Given the description of an element on the screen output the (x, y) to click on. 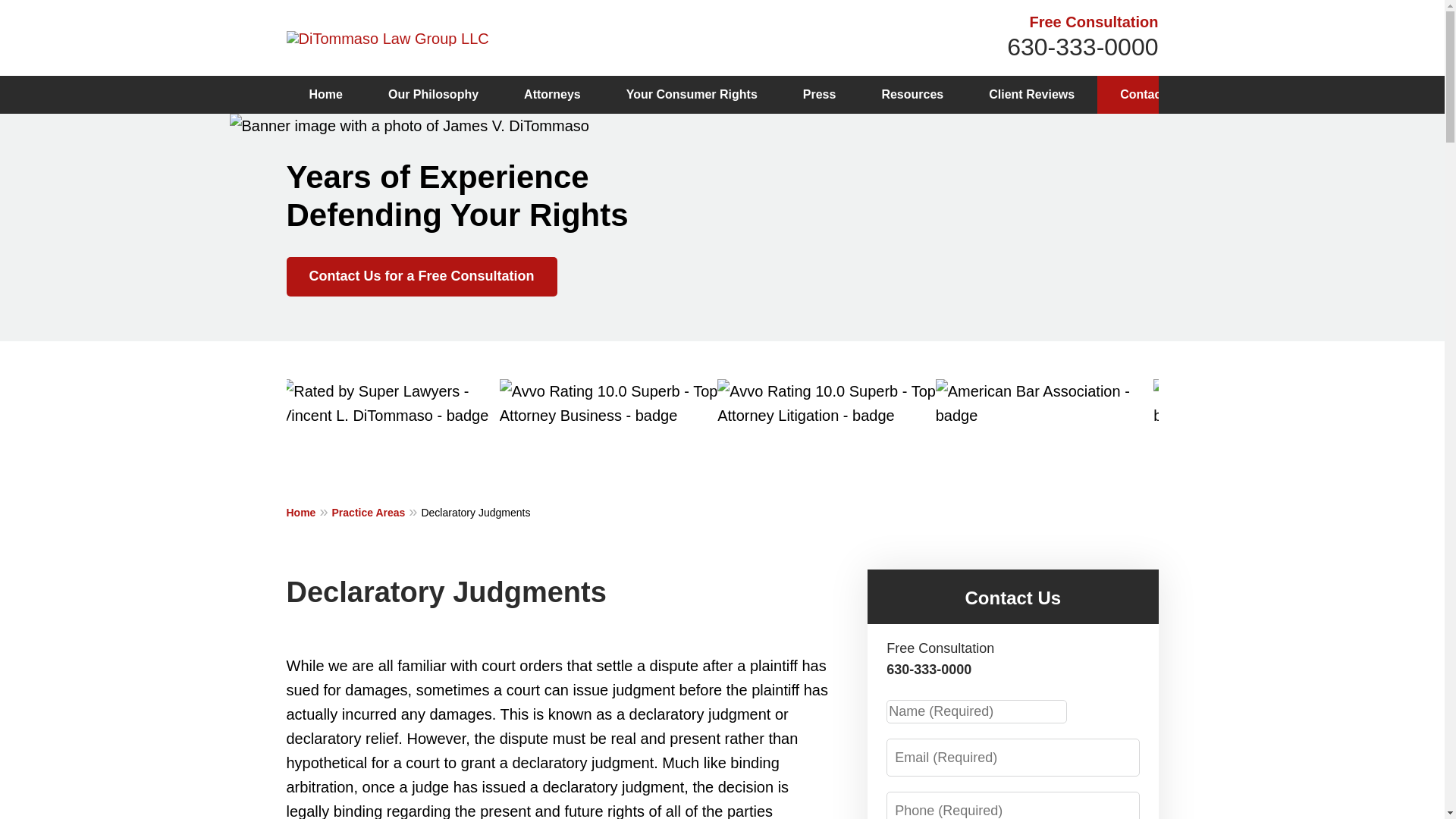
Press (819, 94)
Home (308, 511)
Resources (912, 94)
Practice Areas (376, 511)
Client Reviews (1031, 94)
Our Philosophy (432, 94)
Home (325, 94)
Contact Us for a Free Consultation (421, 276)
Contact Us (1152, 94)
Attorneys (552, 94)
